Given the description of an element on the screen output the (x, y) to click on. 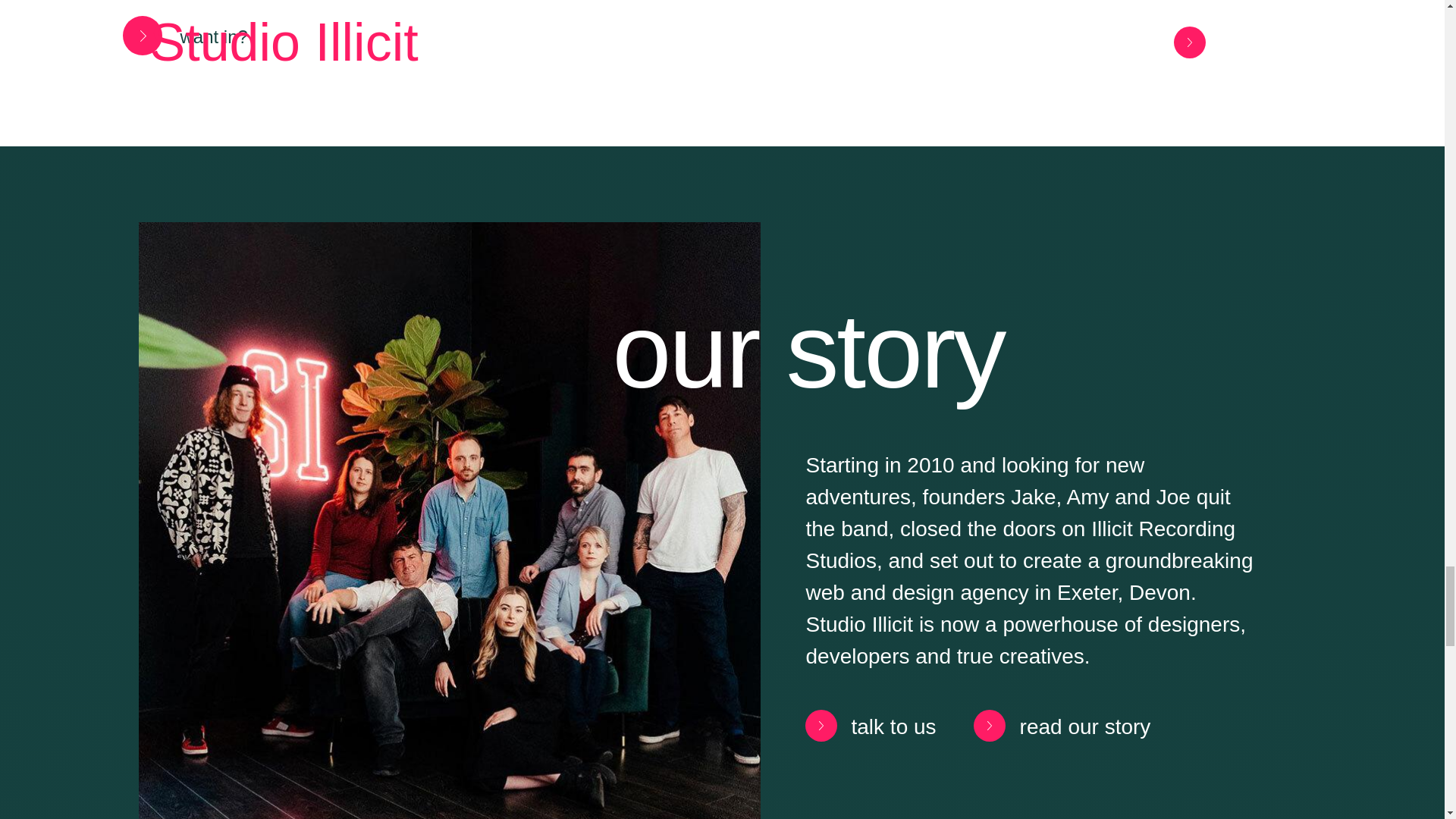
want in? (175, 36)
read our story (1055, 725)
talk to us (863, 725)
